Given the description of an element on the screen output the (x, y) to click on. 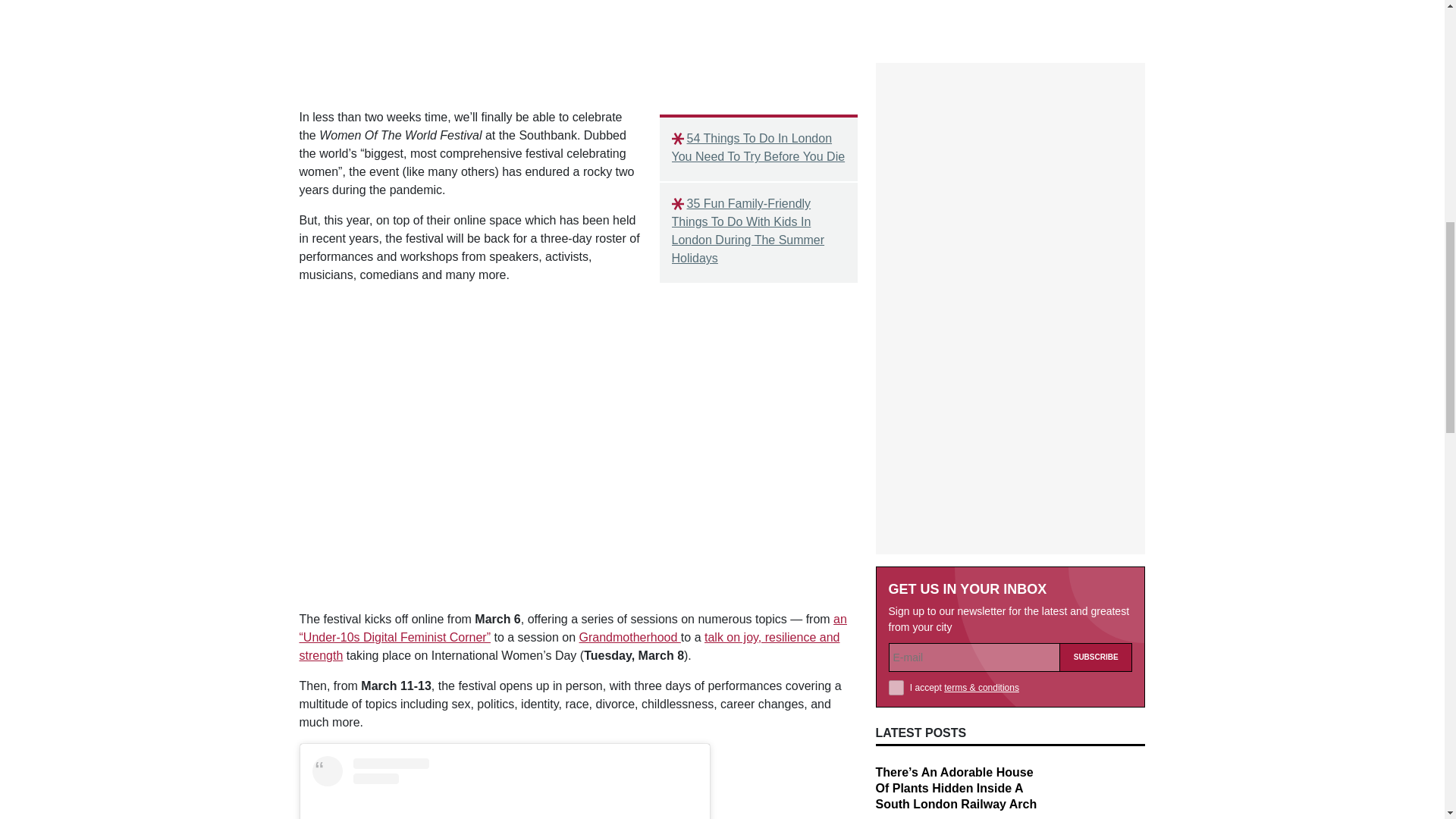
Subscribe (1095, 318)
54 Things To Do In London You Need To Try Before You Die (758, 147)
13 AUGUST, 2024 (912, 490)
Subscribe (1095, 318)
1 (896, 348)
Grandmotherhood (630, 636)
View this post on Instagram (505, 787)
talk on joy, resilience and strength (569, 645)
